Given the description of an element on the screen output the (x, y) to click on. 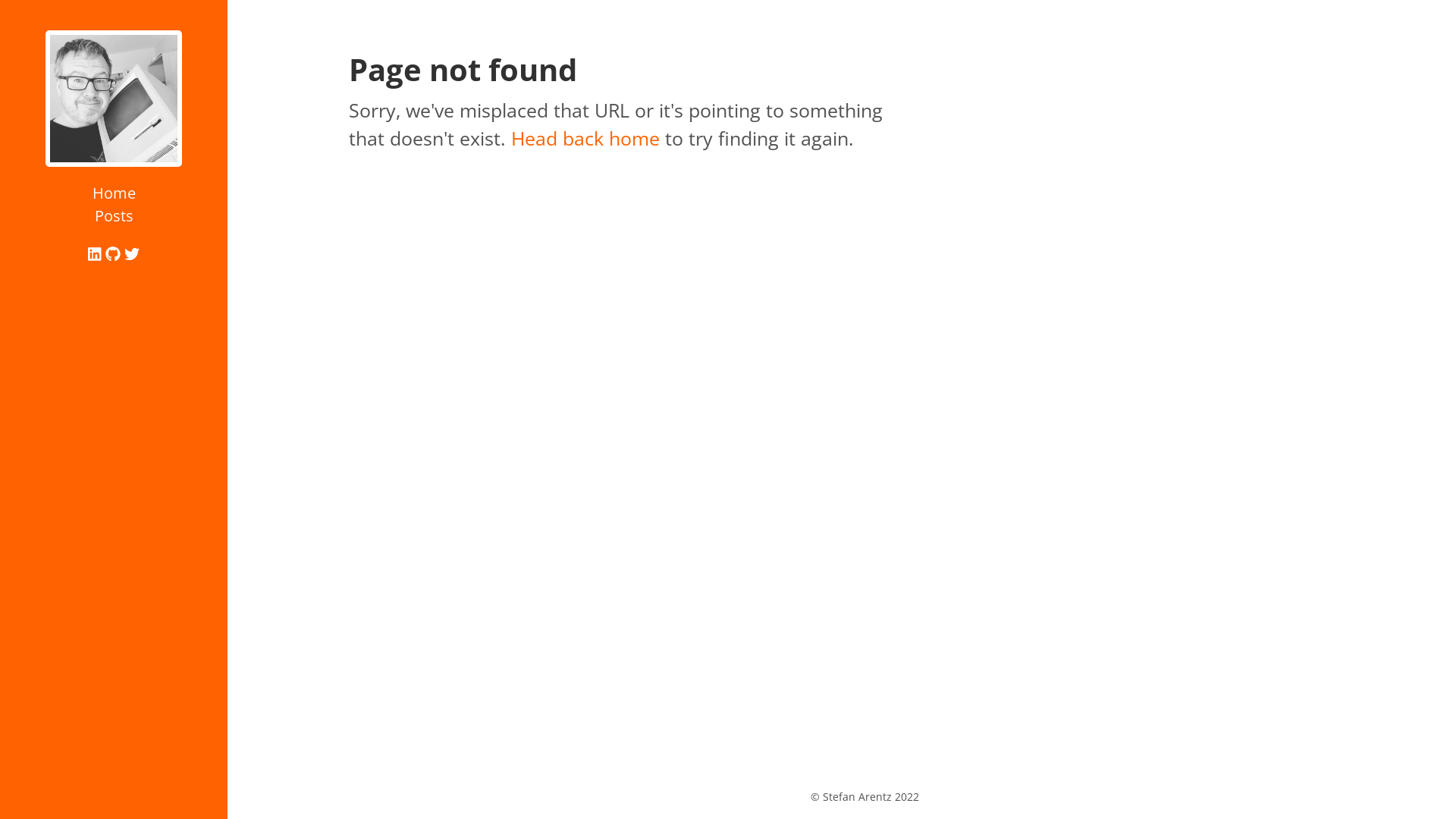
GitHub Element type: hover (114, 253)
Posts Element type: text (113, 215)
Head back home Element type: text (585, 137)
Twitter Element type: hover (131, 253)
Linkedin Element type: hover (96, 253)
Home Element type: text (113, 192)
